Given the description of an element on the screen output the (x, y) to click on. 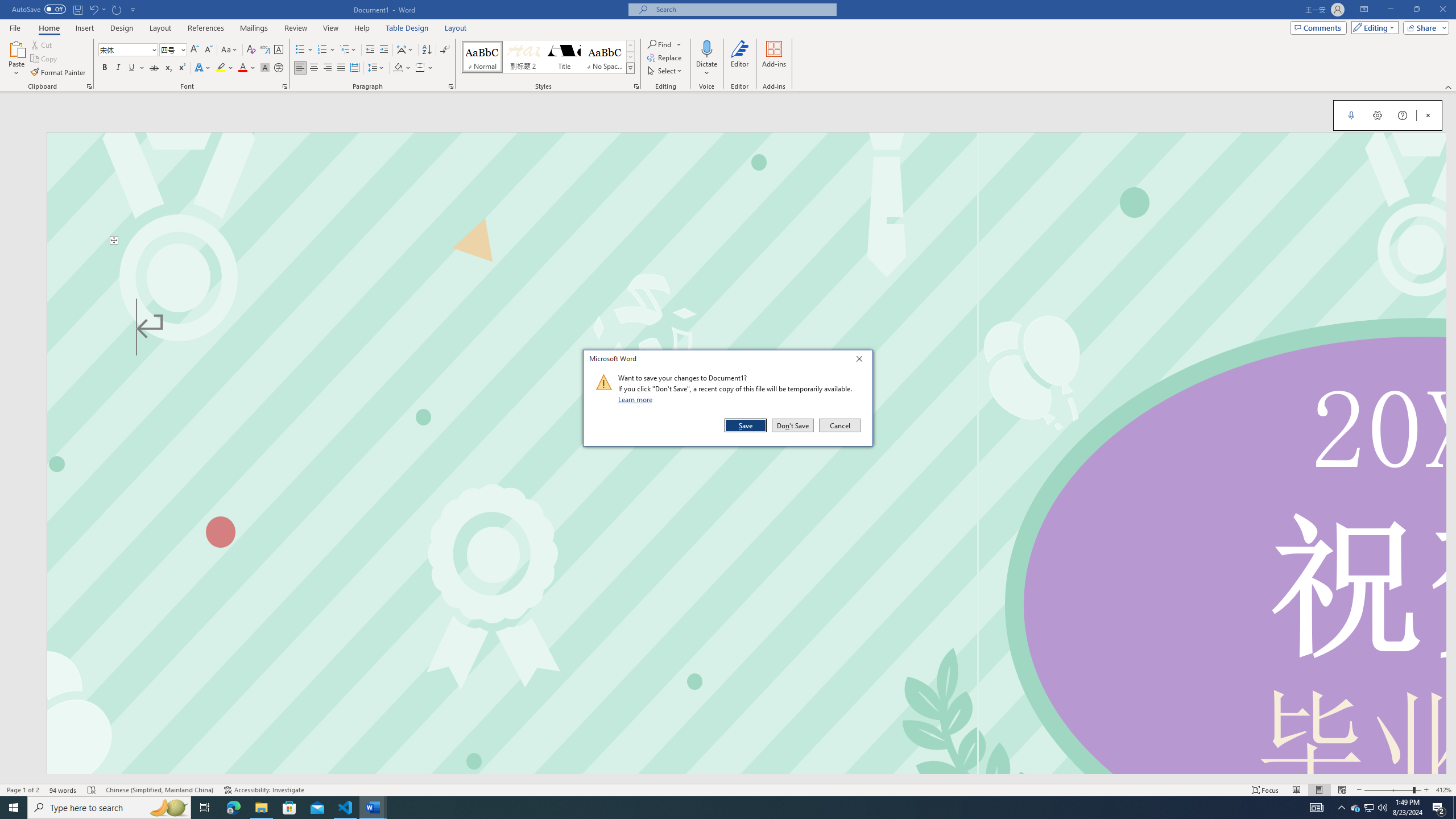
Don't Save (1355, 807)
Search highlights icon opens search home window (792, 425)
Title (167, 807)
File Explorer - 1 running window (564, 56)
